Given the description of an element on the screen output the (x, y) to click on. 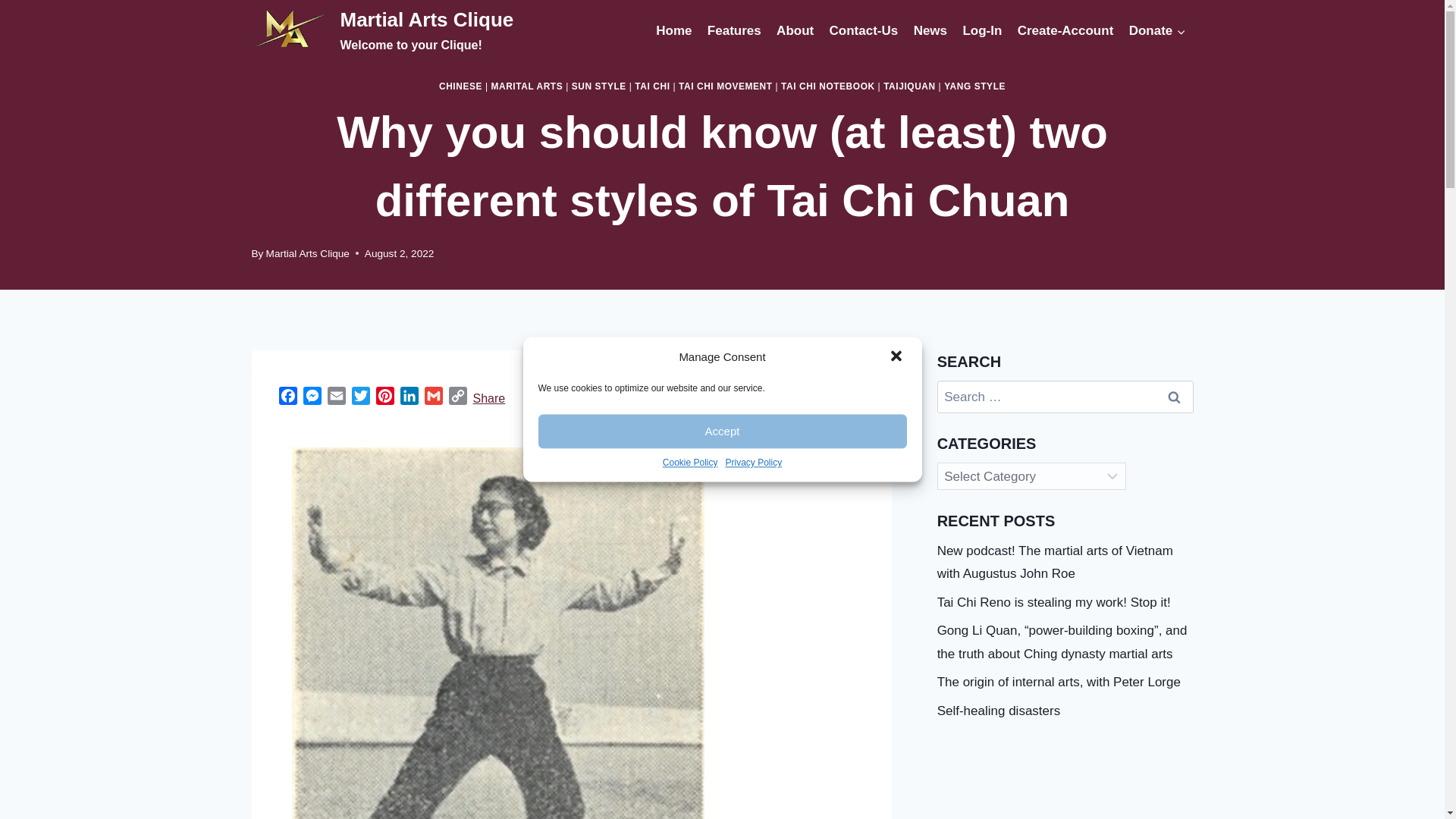
MARITAL ARTS (526, 86)
YANG STYLE (974, 86)
Privacy Policy (753, 462)
Search (1174, 396)
TAI CHI NOTEBOOK (827, 86)
Copy Link (457, 398)
Email (336, 398)
About (794, 31)
Facebook (287, 398)
Accept (722, 430)
LinkedIn (409, 398)
Home (673, 31)
SUN STYLE (599, 86)
Log-In (982, 31)
Email (336, 398)
